Given the description of an element on the screen output the (x, y) to click on. 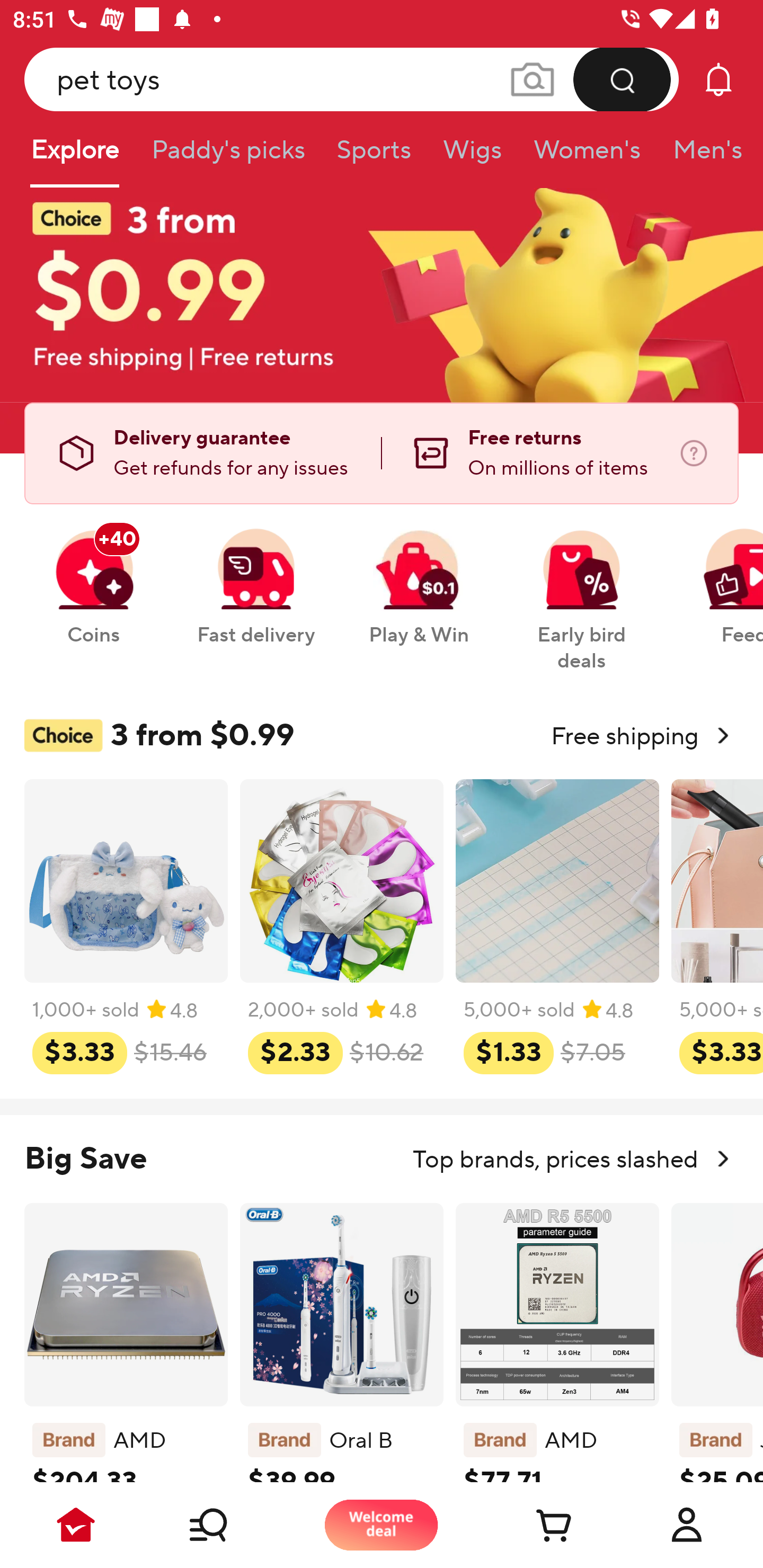
pet toys (351, 79)
Paddy's picks (227, 155)
Sports (373, 155)
Wigs (472, 155)
Women's (586, 155)
Men's (701, 155)
Coinsbutton +40 Coins (93, 576)
Fast deliverybutton Fast delivery (255, 576)
Play & Winbutton Play & Win (418, 576)
Early bird dealsbutton Early bird deals (581, 589)
Feedbutton Feed (719, 576)
Shop (228, 1524)
Cart (533, 1524)
Account (686, 1524)
